Given the description of an element on the screen output the (x, y) to click on. 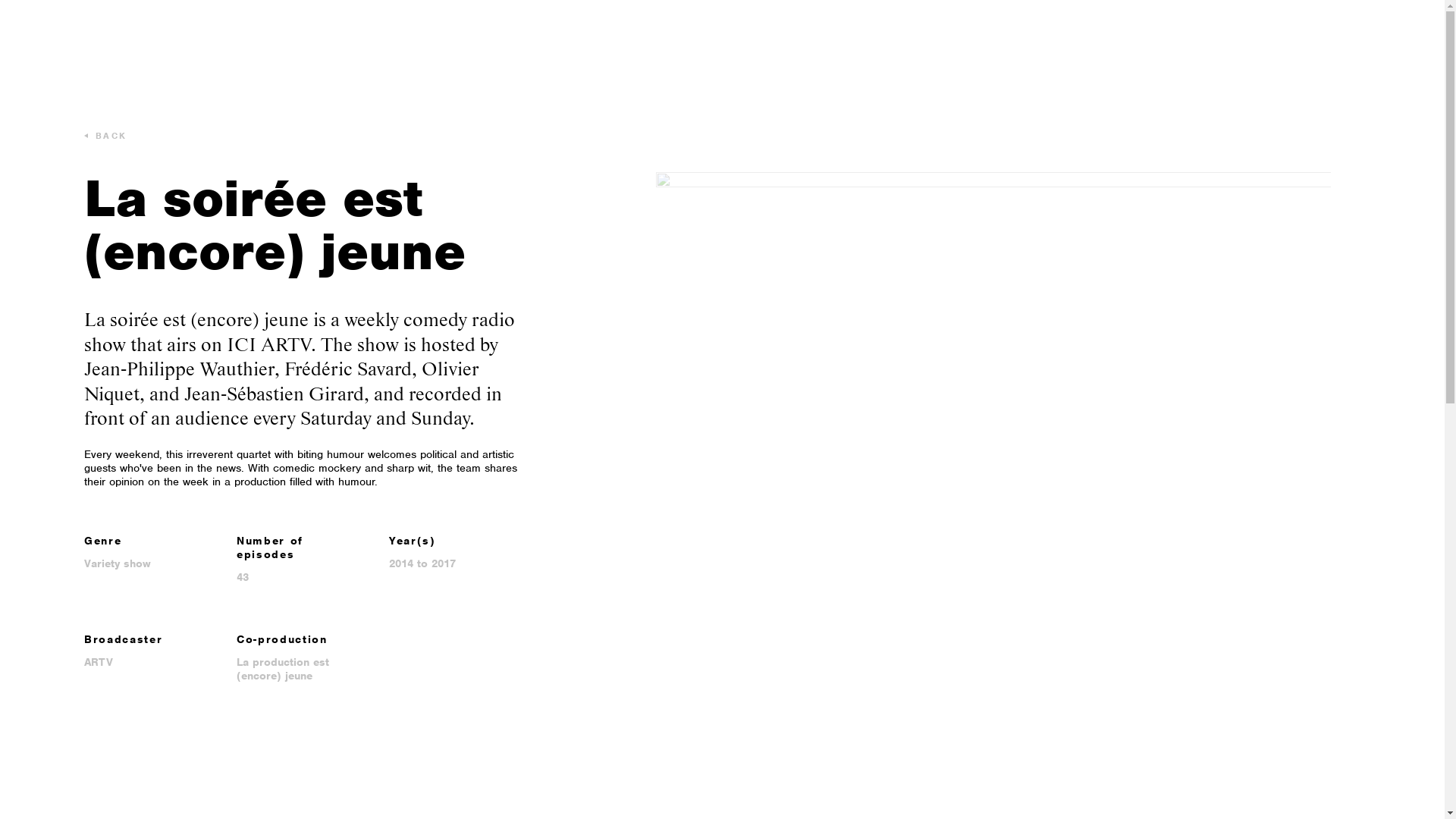
Productions Element type: text (278, 35)
Contact Element type: text (414, 35)
FR Element type: text (1407, 35)
BACK Element type: text (105, 136)
A media Element type: text (78, 35)
Awards Element type: text (352, 35)
Biography Element type: text (196, 35)
